Given the description of an element on the screen output the (x, y) to click on. 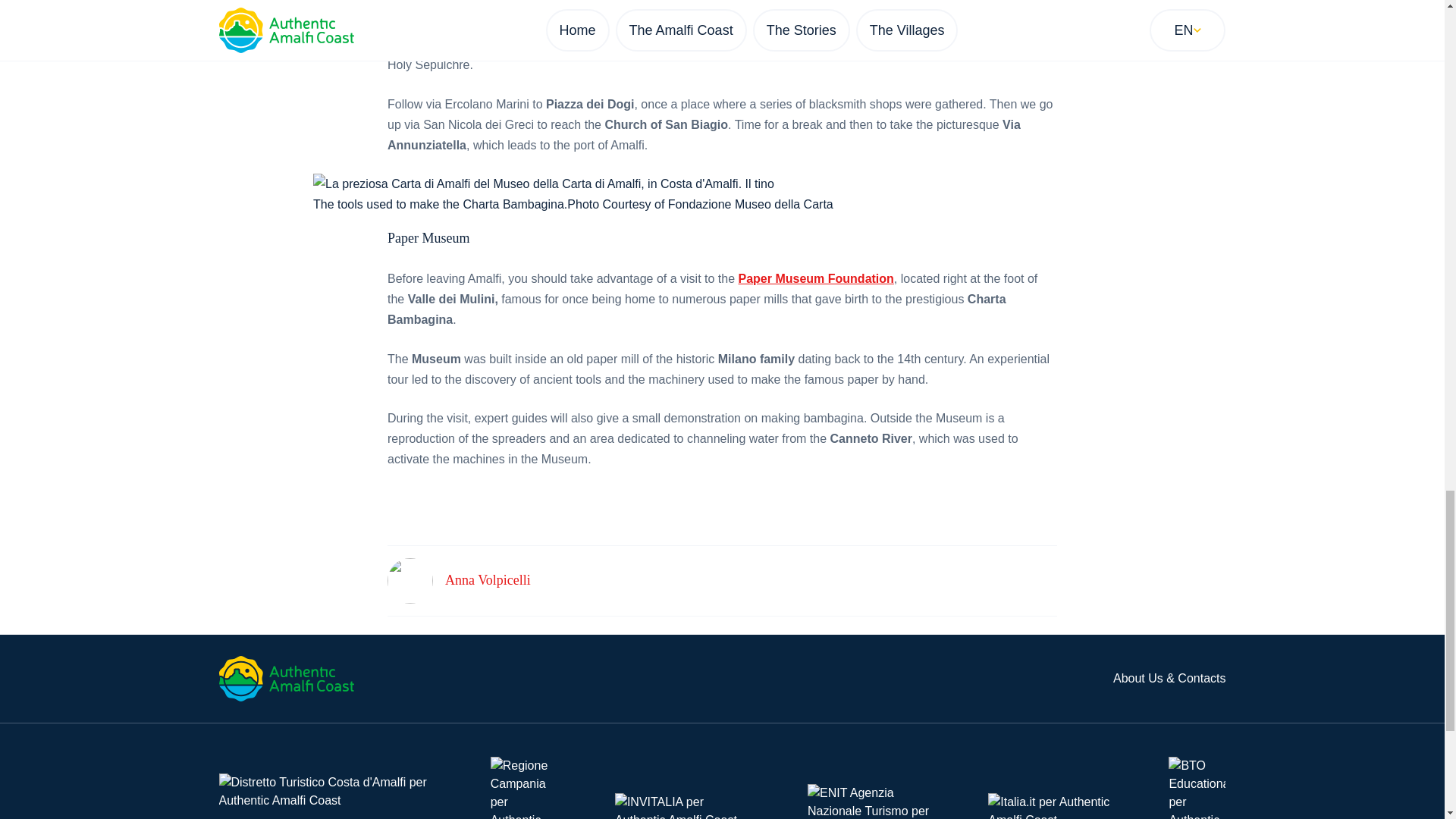
Anna Volpicelli (488, 580)
Authentic Amalfi Coast (285, 678)
Paper Museum Foundation (815, 278)
